Given the description of an element on the screen output the (x, y) to click on. 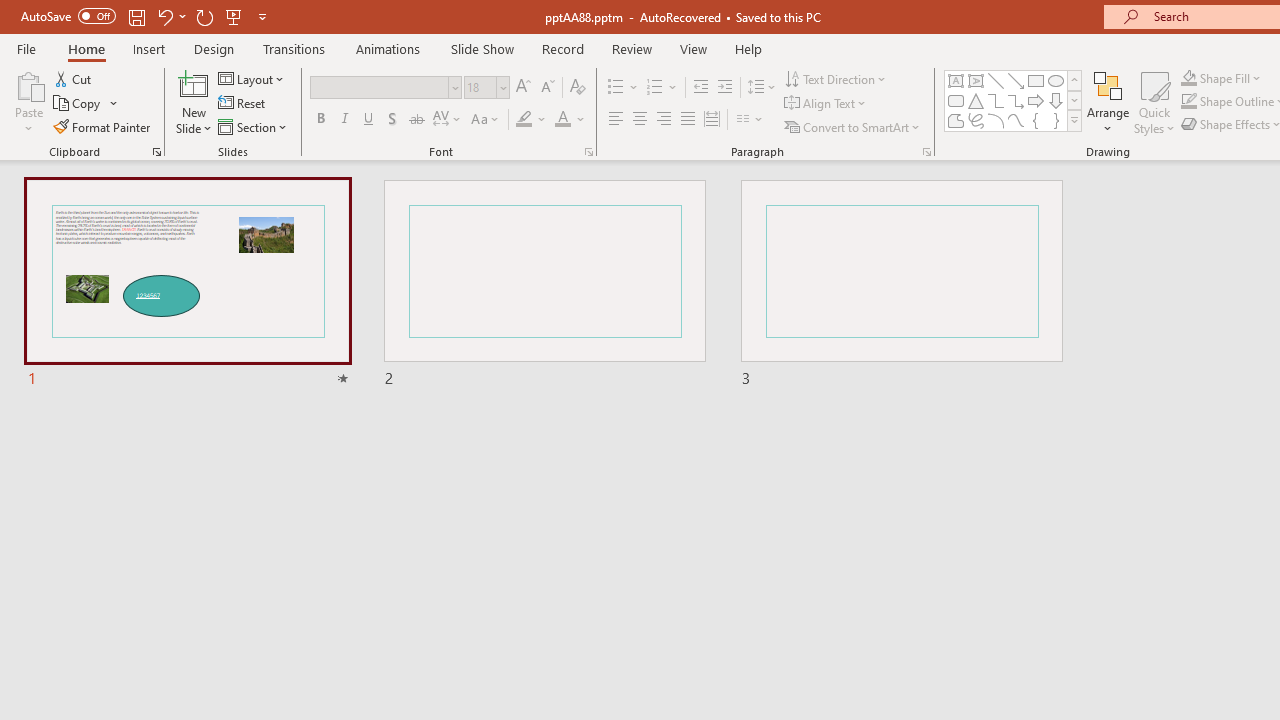
Design (214, 48)
Left Brace (1035, 120)
Freeform: Shape (955, 120)
Convert to SmartArt (853, 126)
Bullets (616, 87)
Shadow (392, 119)
Copy (78, 103)
Shape Outline Teal, Accent 1 (1188, 101)
Text Box (955, 80)
Reset (243, 103)
Rectangle (1035, 80)
Bold (320, 119)
Line Spacing (762, 87)
Shapes (1074, 120)
Customize Quick Access Toolbar (262, 15)
